Given the description of an element on the screen output the (x, y) to click on. 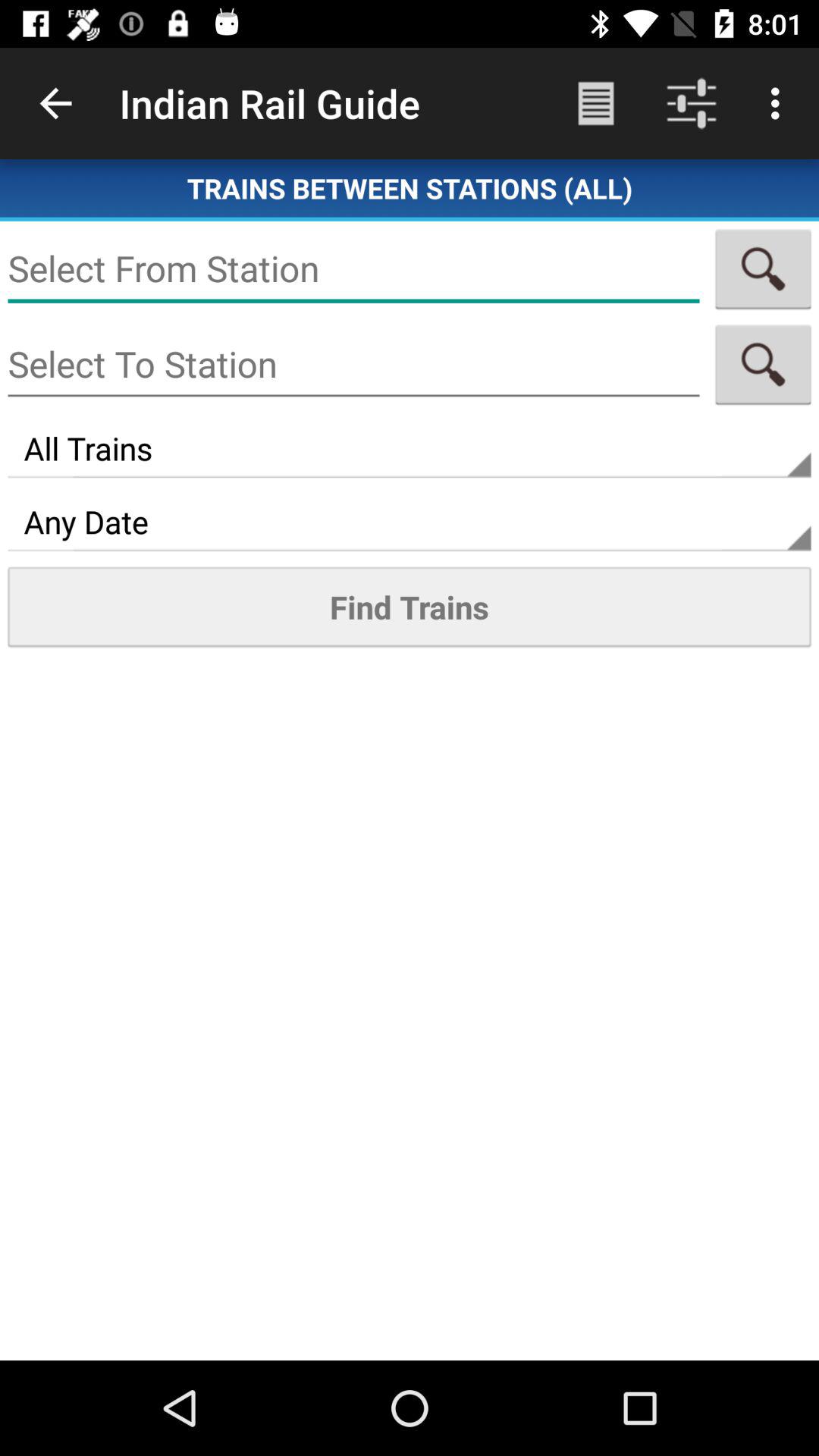
running train from (353, 268)
